Given the description of an element on the screen output the (x, y) to click on. 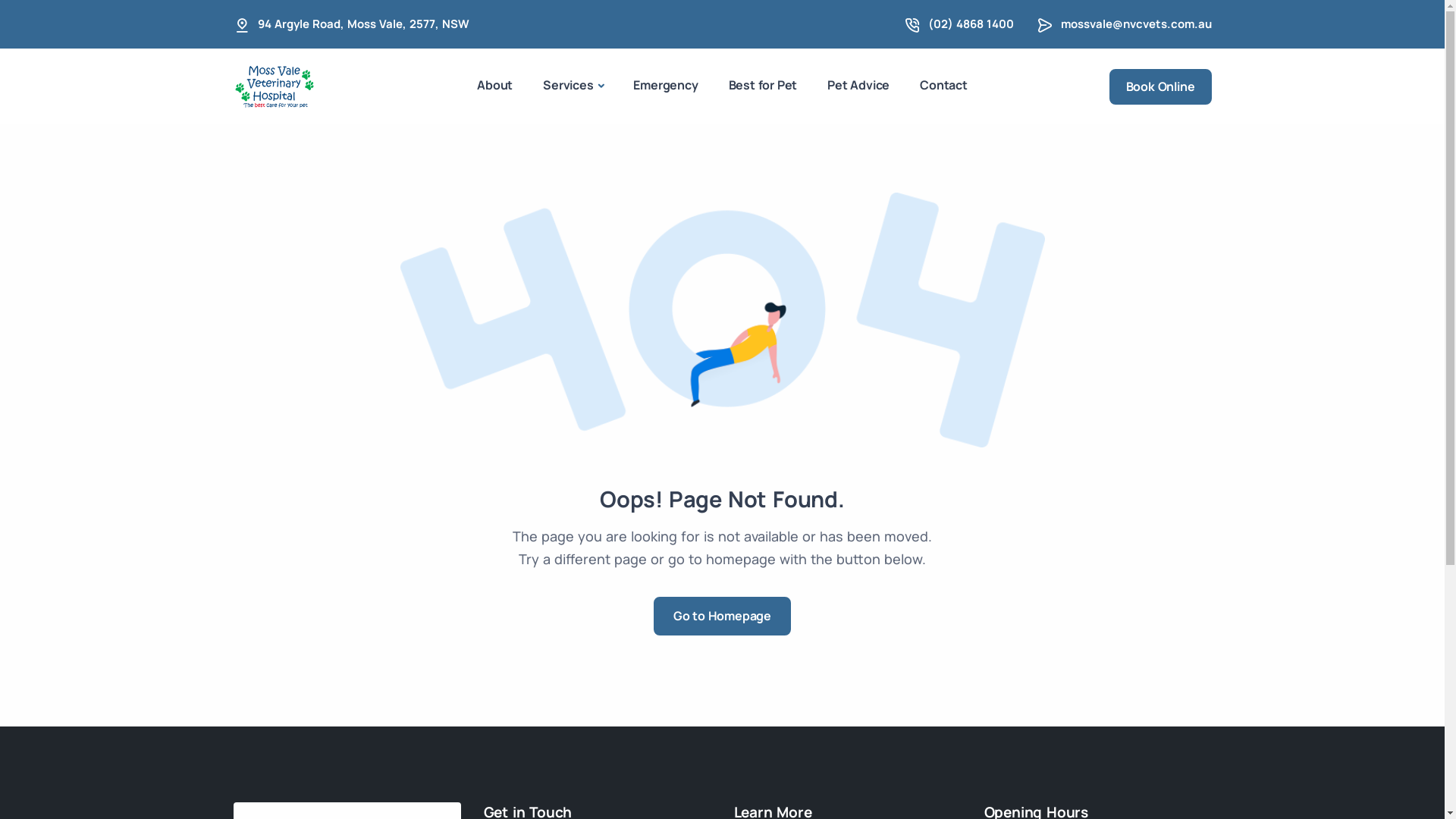
Emergency Element type: text (665, 84)
About Element type: text (494, 84)
Book Online Element type: text (1160, 86)
Contact Element type: text (943, 84)
94 Argyle Road, Moss Vale, 2577, NSW Element type: text (363, 23)
Services Element type: text (572, 86)
Best for Pet Element type: text (762, 84)
Pet Advice Element type: text (858, 84)
Go to Homepage Element type: text (721, 615)
mossvale@nvcvets.com.au Element type: text (1135, 23)
(02) 4868 1400 Element type: text (970, 23)
